Given the description of an element on the screen output the (x, y) to click on. 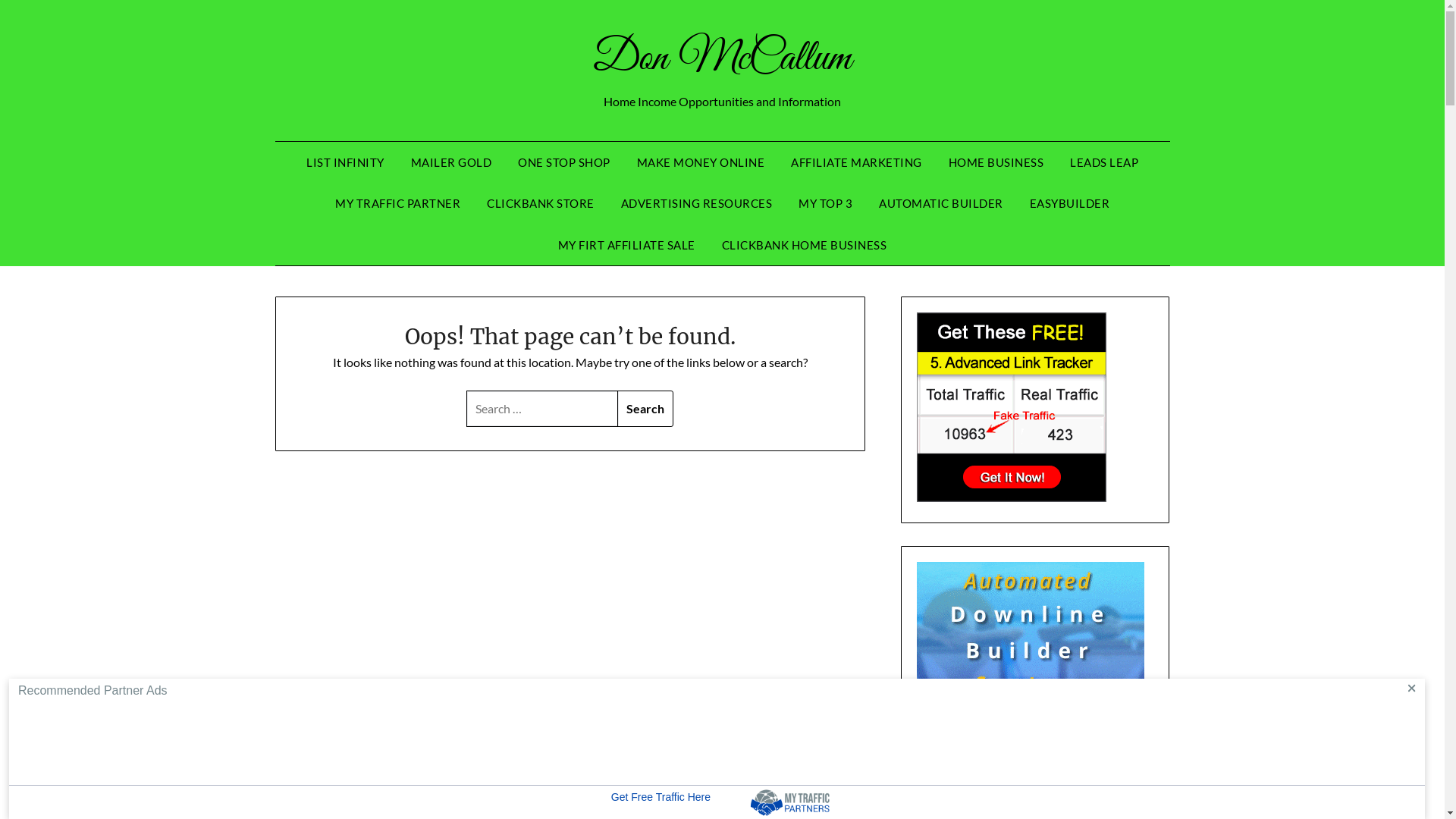
Recommended Partner Ads Element type: text (92, 690)
MAKE MONEY ONLINE Element type: text (700, 161)
Search Element type: text (645, 408)
ADVERTISING RESOURCES Element type: text (696, 202)
Get Free Traffic Here Element type: text (656, 802)
MY TOP 3 Element type: text (825, 202)
EASYBUILDER Element type: text (1069, 202)
MY FIRT AFFILIATE SALE Element type: text (626, 244)
AUTOMATIC BUILDER Element type: text (940, 202)
MAILER GOLD Element type: text (451, 161)
AFFILIATE MARKETING Element type: text (856, 161)
CLICKBANK STORE Element type: text (540, 202)
Don McCallum Element type: text (721, 58)
CLICKBANK HOME BUSINESS Element type: text (804, 244)
ONE STOP SHOP Element type: text (563, 161)
LIST INFINITY Element type: text (345, 161)
LEADS LEAP Element type: text (1103, 161)
HOME BUSINESS Element type: text (995, 161)
MY TRAFFIC PARTNER Element type: text (397, 202)
